Given the description of an element on the screen output the (x, y) to click on. 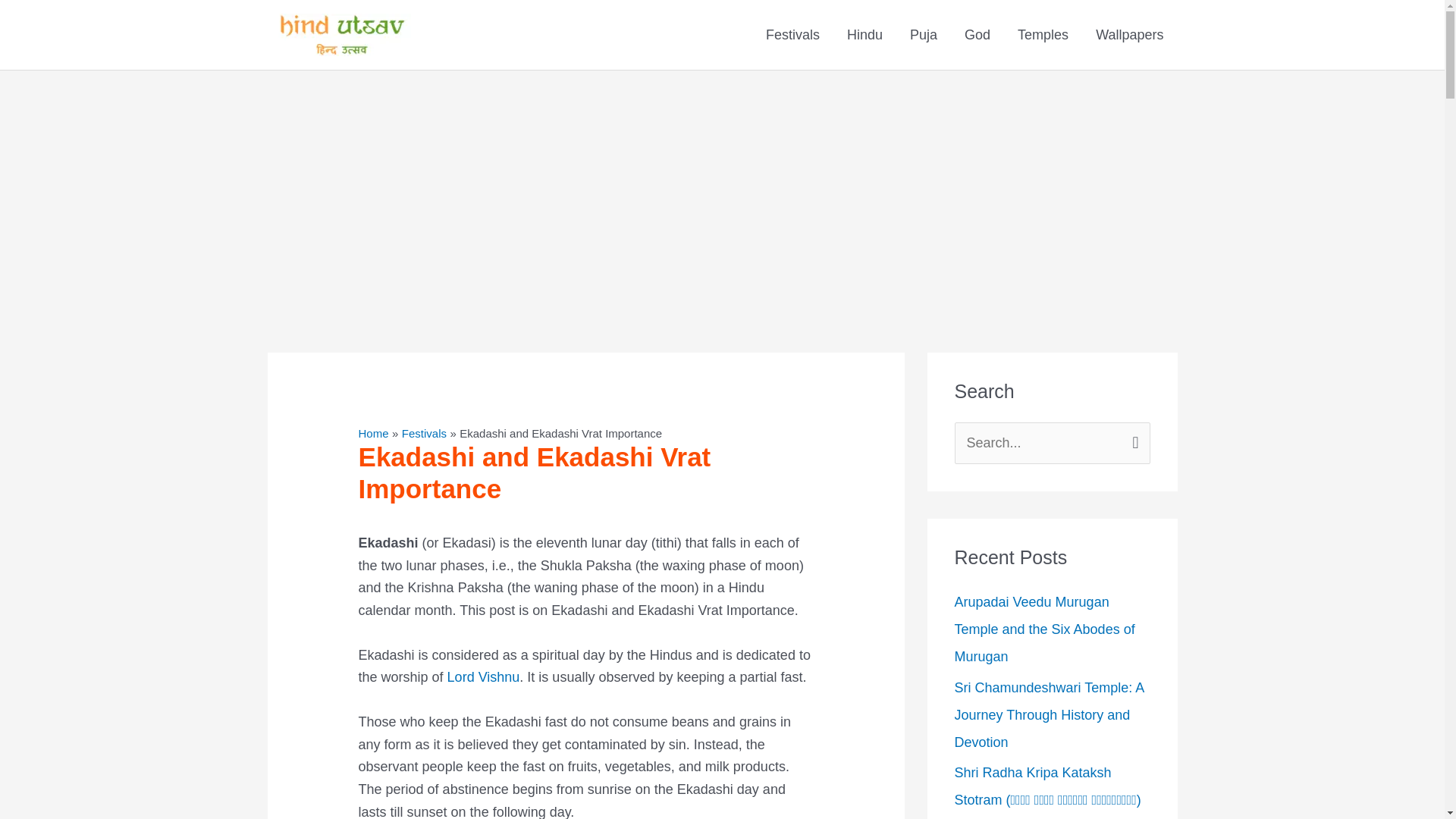
Temples (1042, 34)
Lord Vishnu (482, 676)
Search (1133, 438)
Search (1133, 438)
Wallpapers (1128, 34)
Festivals (792, 34)
Search (1133, 438)
Hindu (864, 34)
Festivals (423, 432)
Home (373, 432)
Arupadai Veedu Murugan Temple and the Six Abodes of Murugan (1043, 629)
